Given the description of an element on the screen output the (x, y) to click on. 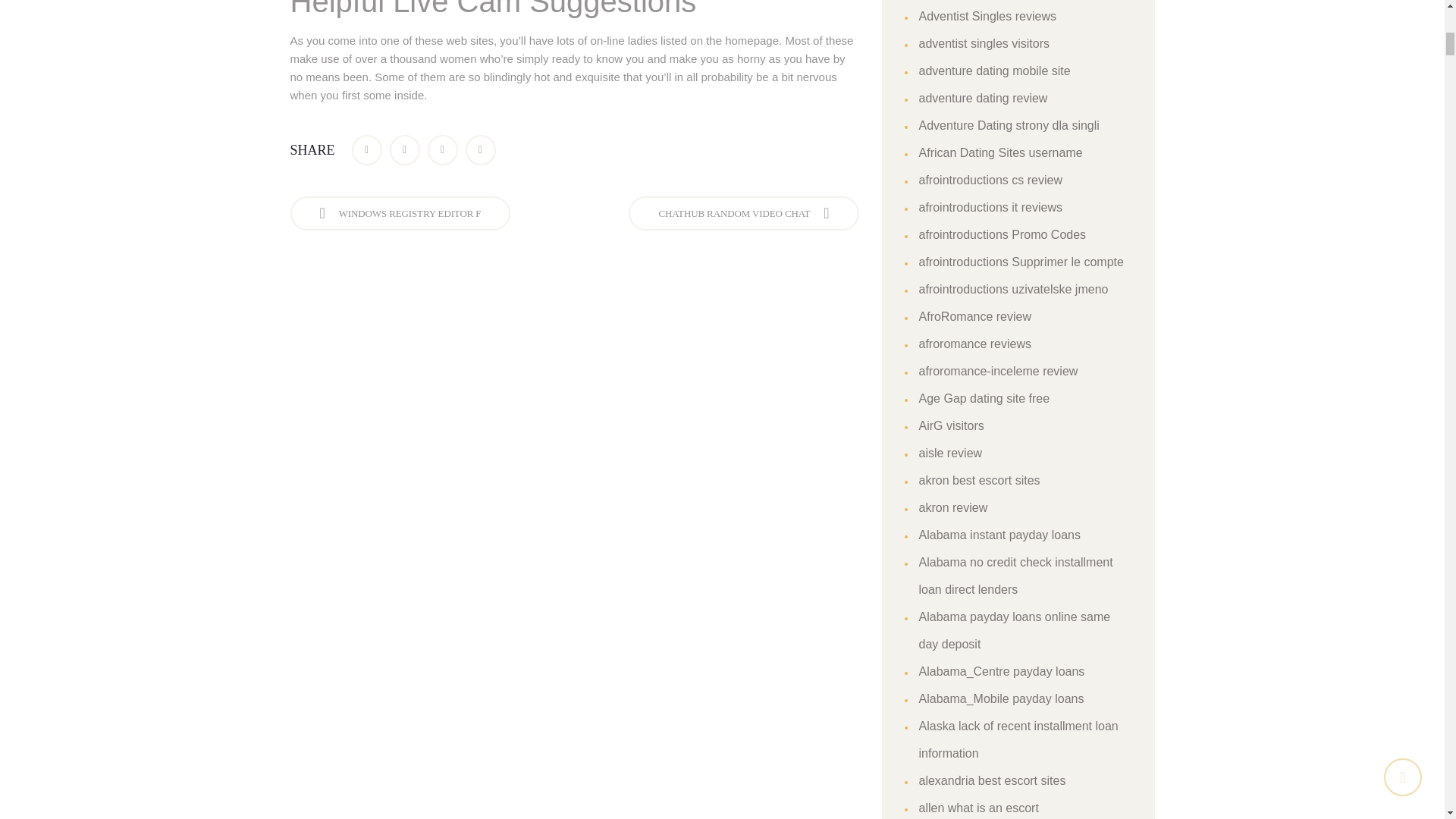
Twitter (405, 150)
WINDOWS REGISTRY EDITOR F (400, 213)
Pinterest (480, 150)
Google Plus (443, 150)
Facebook (366, 150)
